Given the description of an element on the screen output the (x, y) to click on. 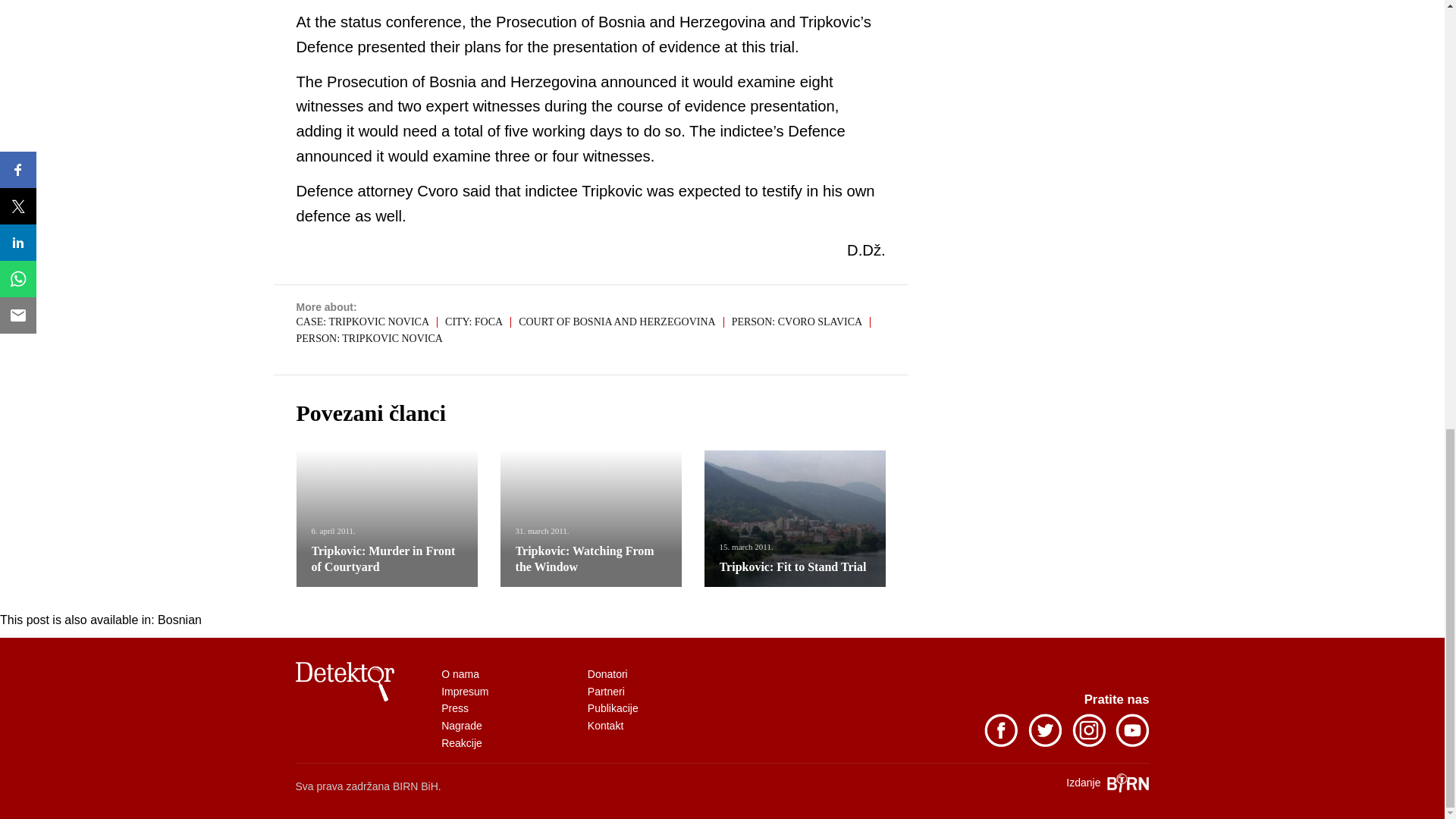
Tripkovic: Fit to Stand Trial (794, 518)
Tripkovic: Fit to Stand Trial (792, 566)
Donatori  (609, 674)
CITY: FOCA (478, 321)
Tripkovic: Murder in Front of Courtyard (387, 518)
Tripkovic: Murder in Front of Courtyard (382, 558)
CASE: TRIPKOVIC NOVICA (366, 321)
Tripkovic: Watching From the Window (584, 558)
Facebook (996, 743)
Publikacije  (615, 707)
Impresum  (466, 691)
Tripkovic: Watching From the Window (590, 518)
Bosnian (179, 620)
Kontakt  (607, 725)
Reakcije (461, 743)
